Given the description of an element on the screen output the (x, y) to click on. 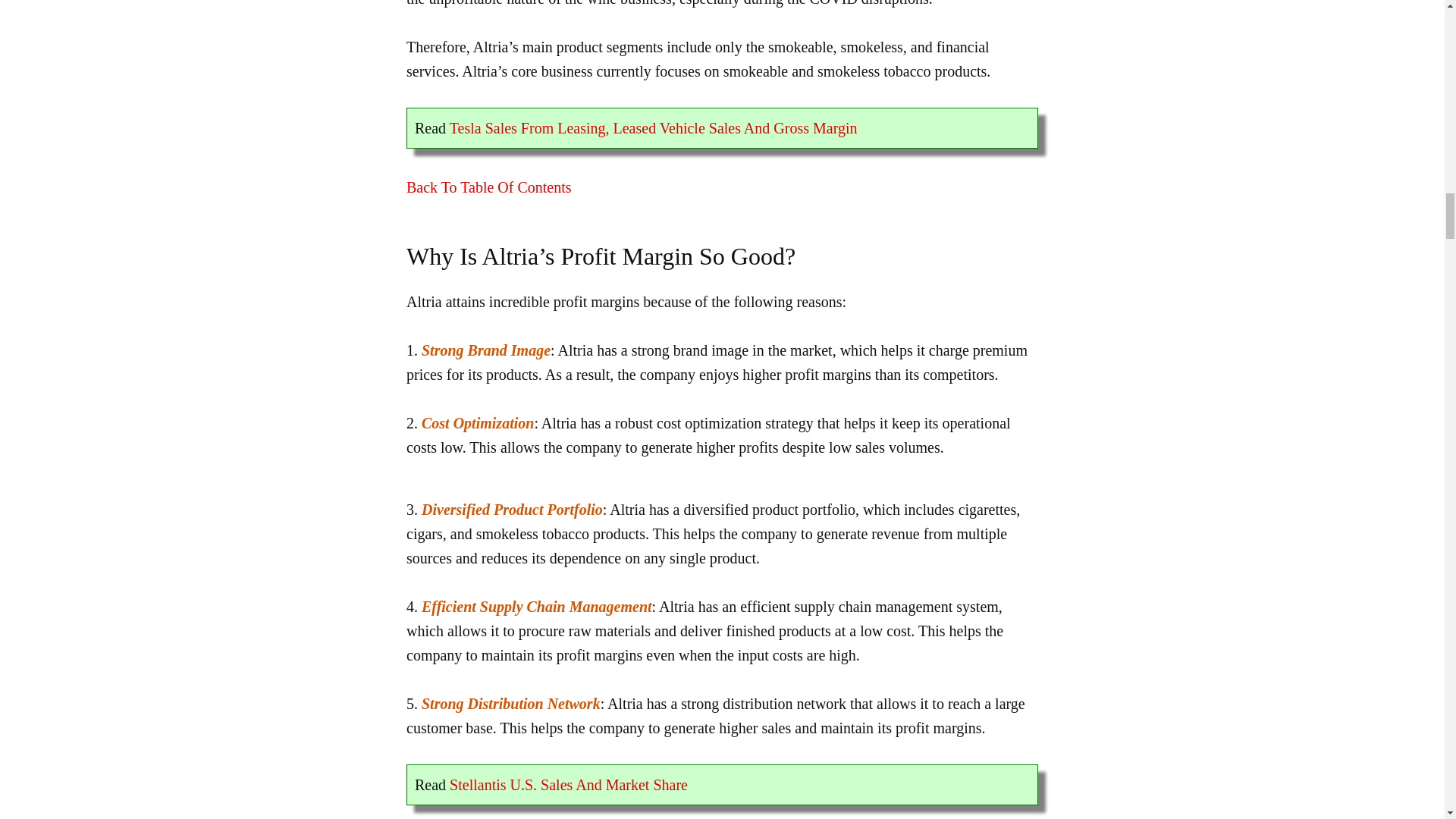
Stellantis U.S. Sales And Market Share (568, 784)
Back To Table Of Contents (489, 187)
